Given the description of an element on the screen output the (x, y) to click on. 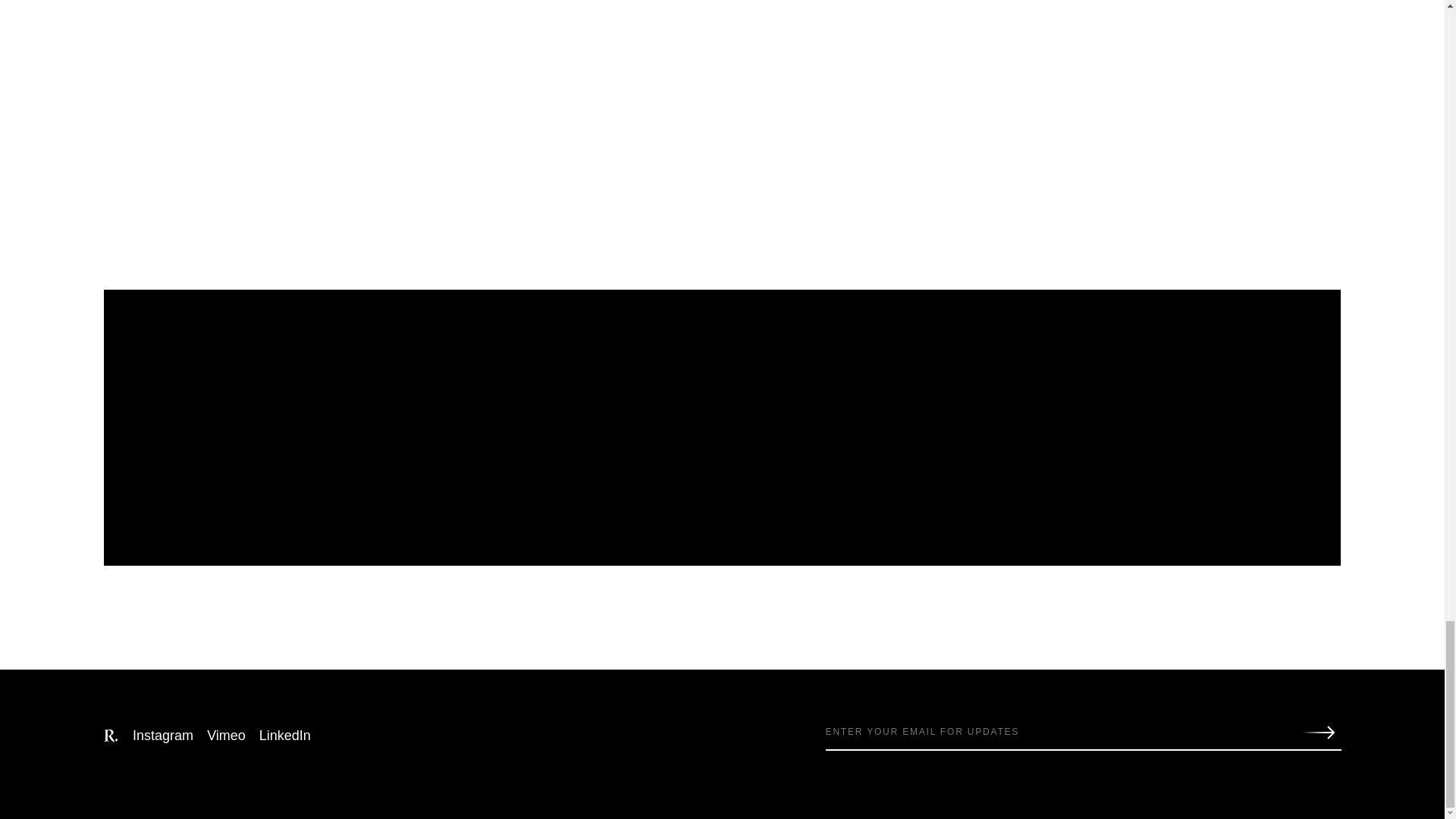
Instagram (162, 735)
LinkedIn (285, 735)
Vimeo (226, 735)
Submit (1321, 732)
